Given the description of an element on the screen output the (x, y) to click on. 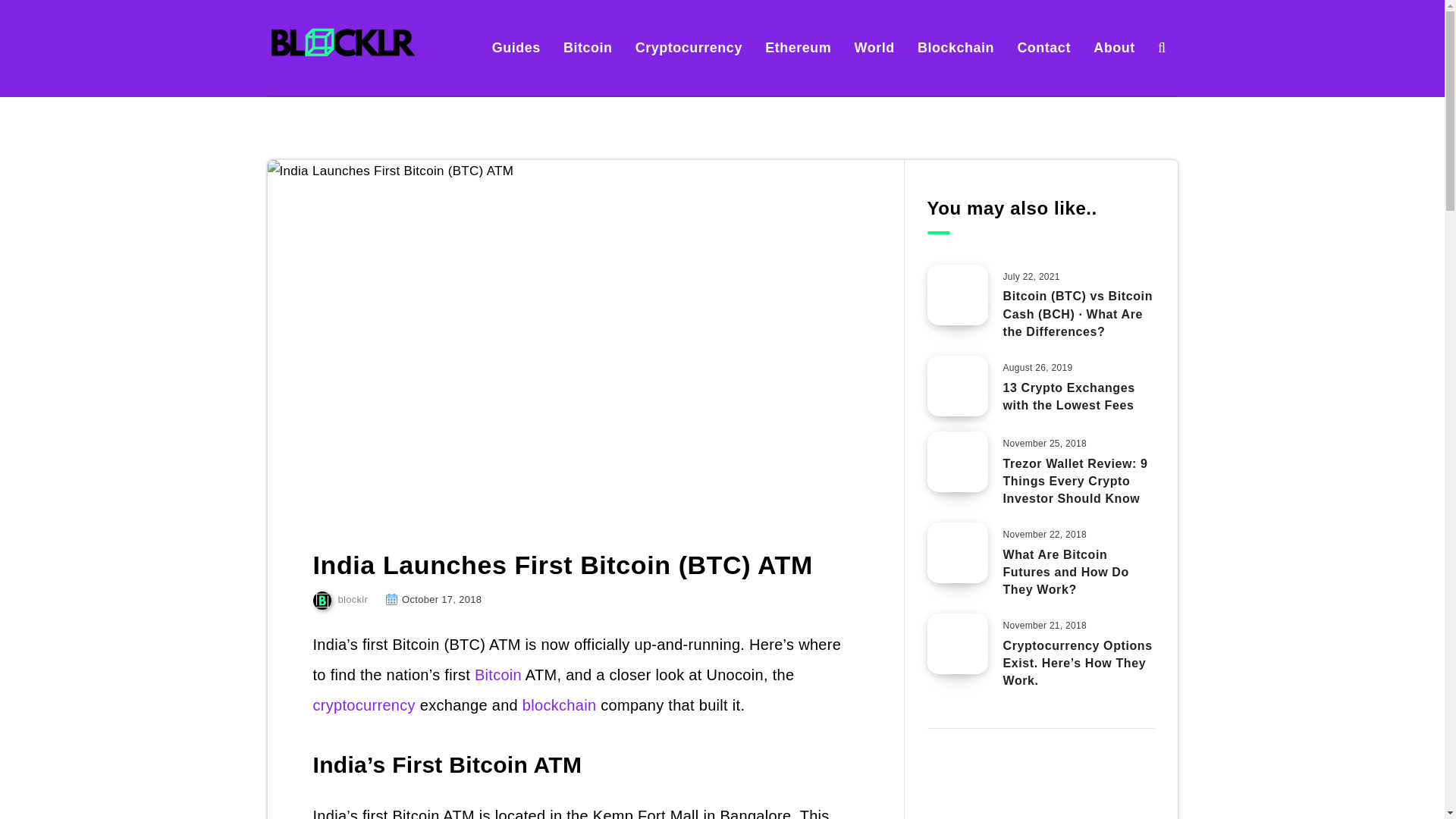
blocklr (340, 599)
Guides (516, 47)
cryptocurrency (363, 704)
Blockchain (955, 47)
Ethereum (798, 47)
Home (280, 128)
About (1113, 47)
What Are Bitcoin Futures and How Do They Work? (1065, 573)
World (874, 47)
Bitcoin (587, 47)
